Given the description of an element on the screen output the (x, y) to click on. 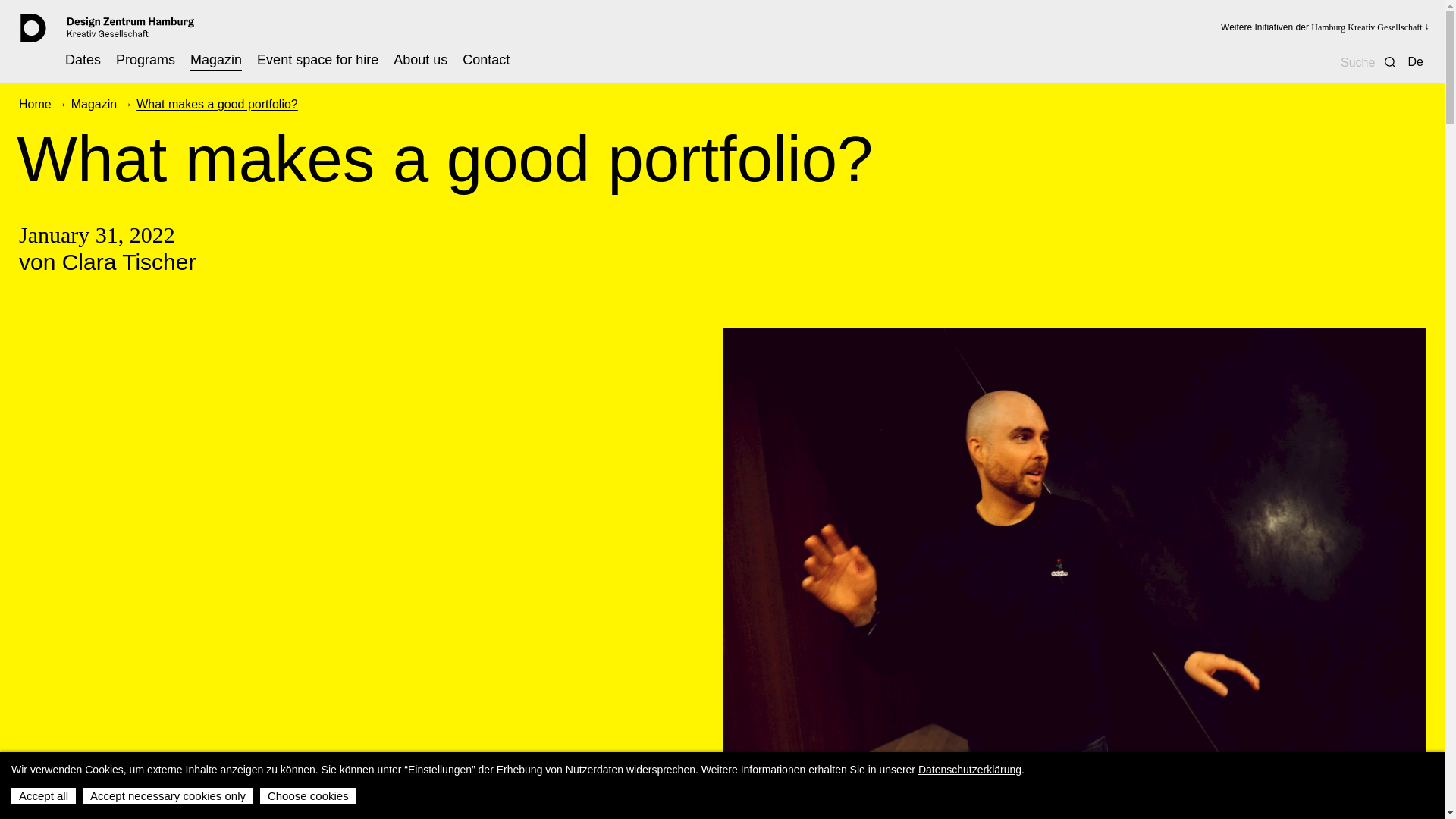
Programs (145, 59)
Magazin (215, 59)
Home (34, 103)
About us (419, 59)
Event space for hire (317, 59)
Magazin (93, 103)
Accept all (43, 795)
De (1415, 61)
Dates (82, 59)
Accept necessary cookies only (167, 795)
Contact (486, 59)
